Given the description of an element on the screen output the (x, y) to click on. 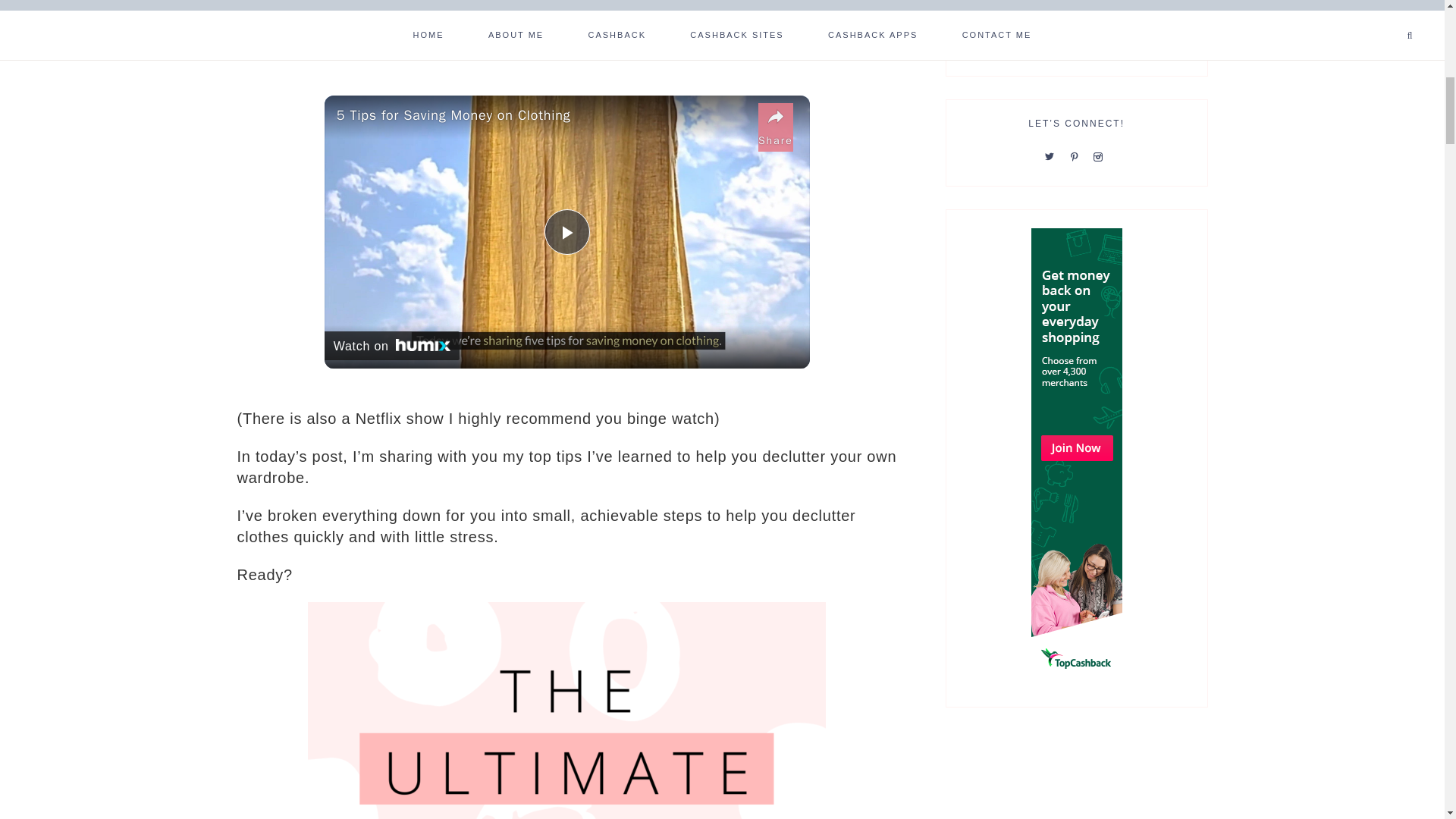
Play Video (566, 231)
Watch on (392, 345)
Pinterest (1076, 154)
5 Tips for Saving Money on Clothing (543, 115)
Play Video (566, 231)
Twitter (1052, 154)
